Given the description of an element on the screen output the (x, y) to click on. 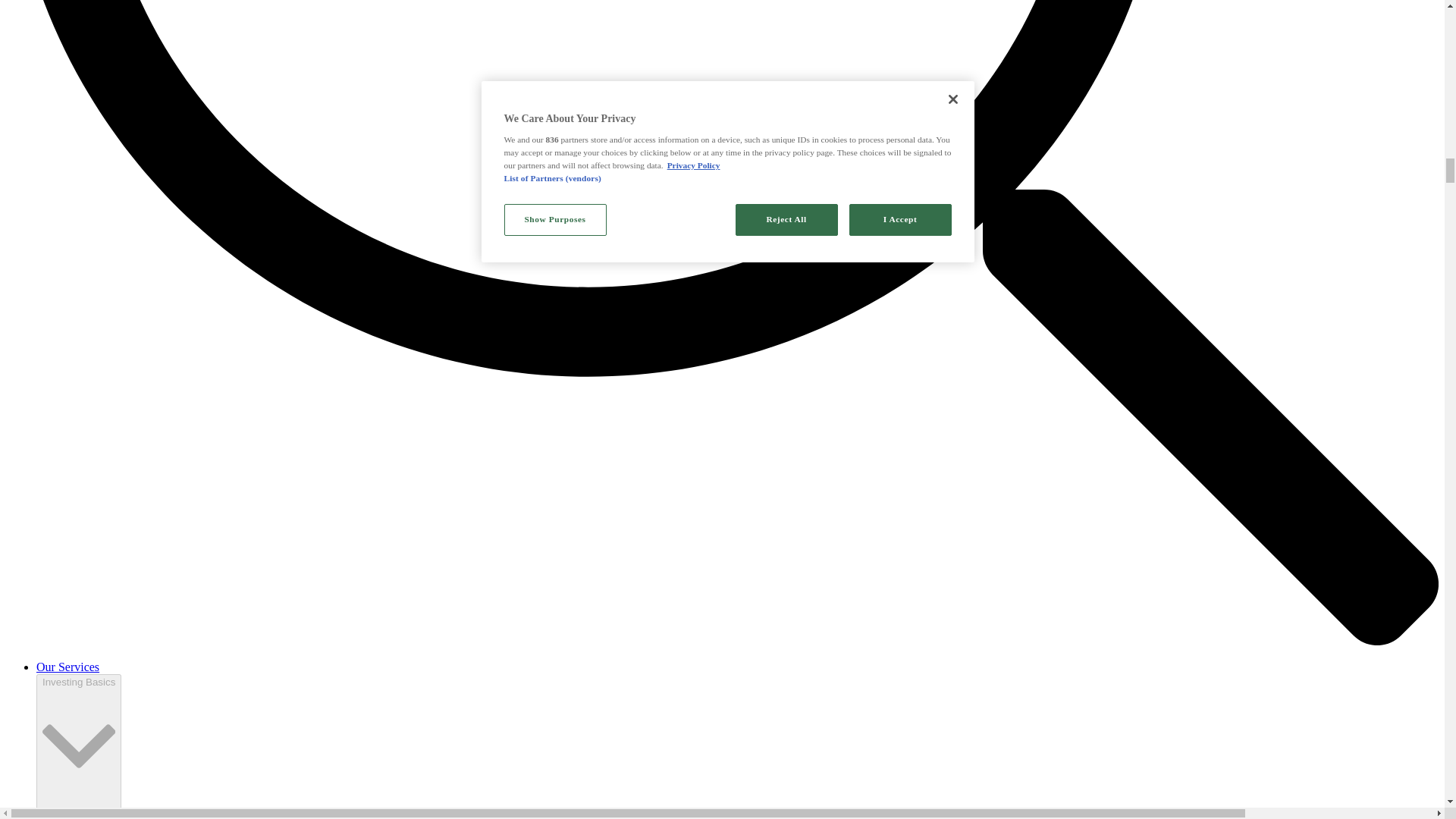
angle-up (78, 812)
